Given the description of an element on the screen output the (x, y) to click on. 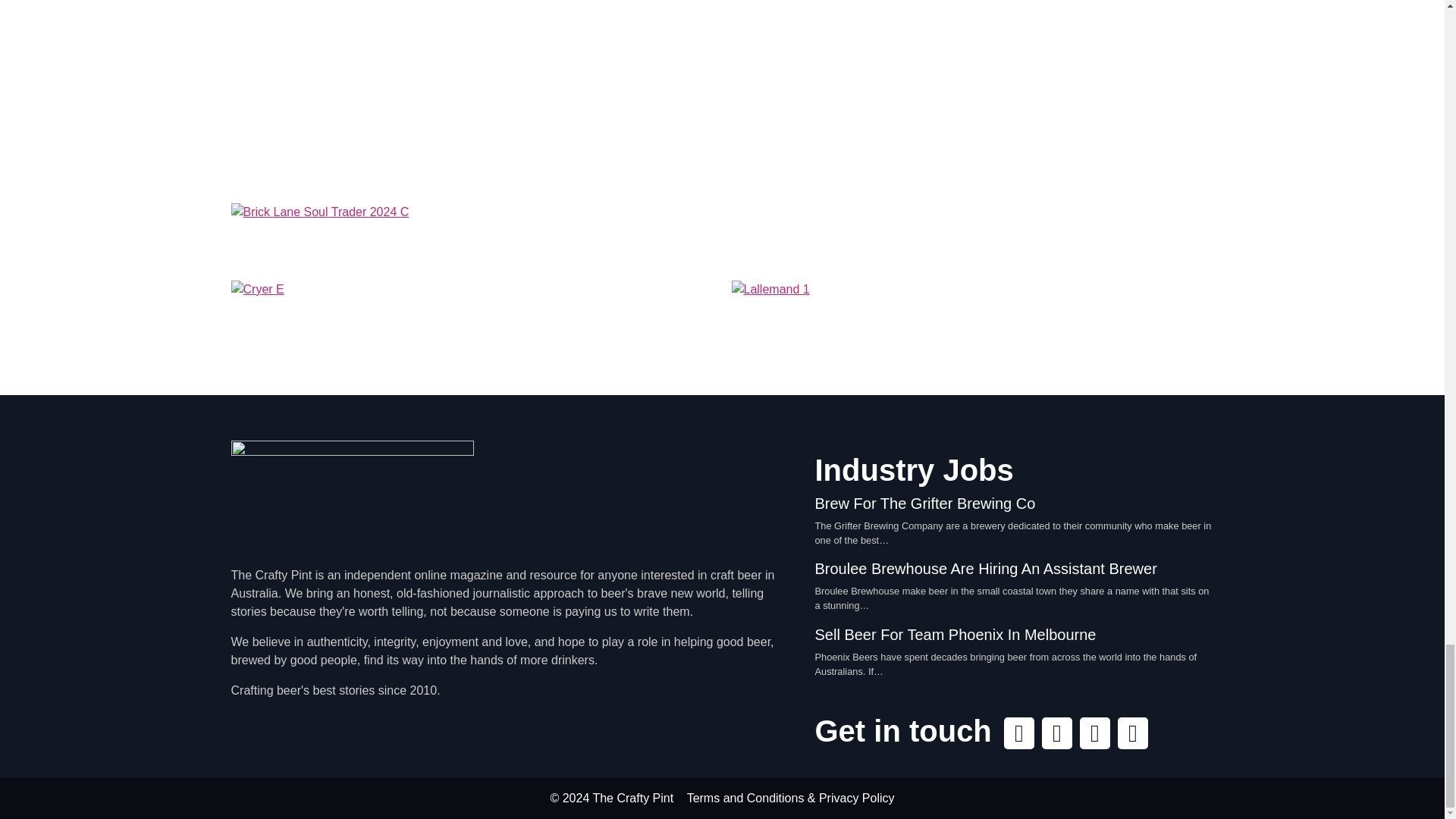
Cryer E (471, 320)
Brick Lane Soul Trader 2024 C (721, 235)
Lallemand 1 (971, 320)
